Given the description of an element on the screen output the (x, y) to click on. 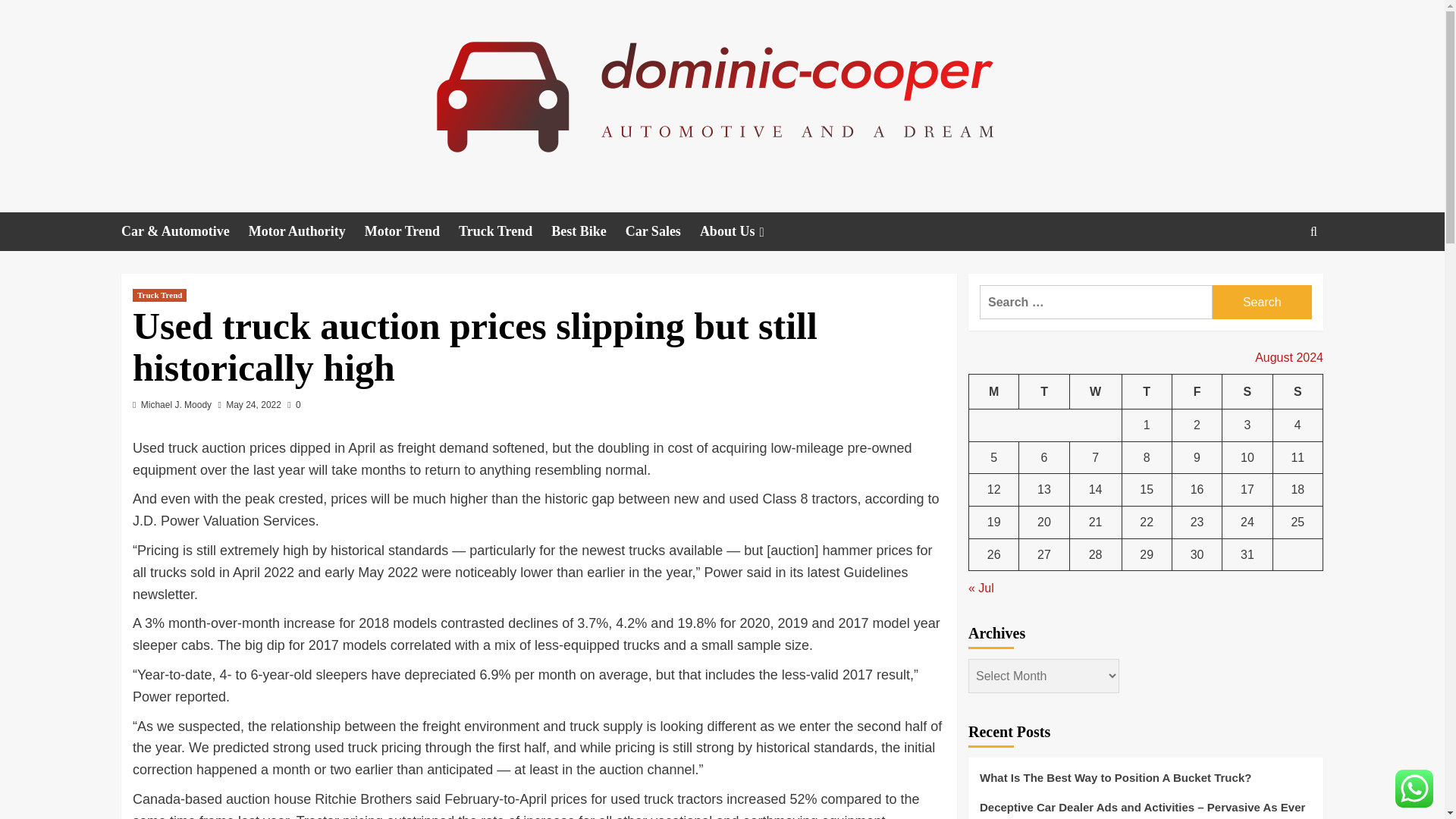
0 (292, 404)
May 24, 2022 (253, 404)
Michael J. Moody (176, 404)
Wednesday (1094, 391)
Tuesday (1043, 391)
Search (1261, 302)
Saturday (1247, 391)
Best Bike (588, 231)
Car Sales (663, 231)
Thursday (1146, 391)
Motor Authority (306, 231)
Truck Trend (504, 231)
Sunday (1297, 391)
Search (1278, 277)
Motor Trend (411, 231)
